Given the description of an element on the screen output the (x, y) to click on. 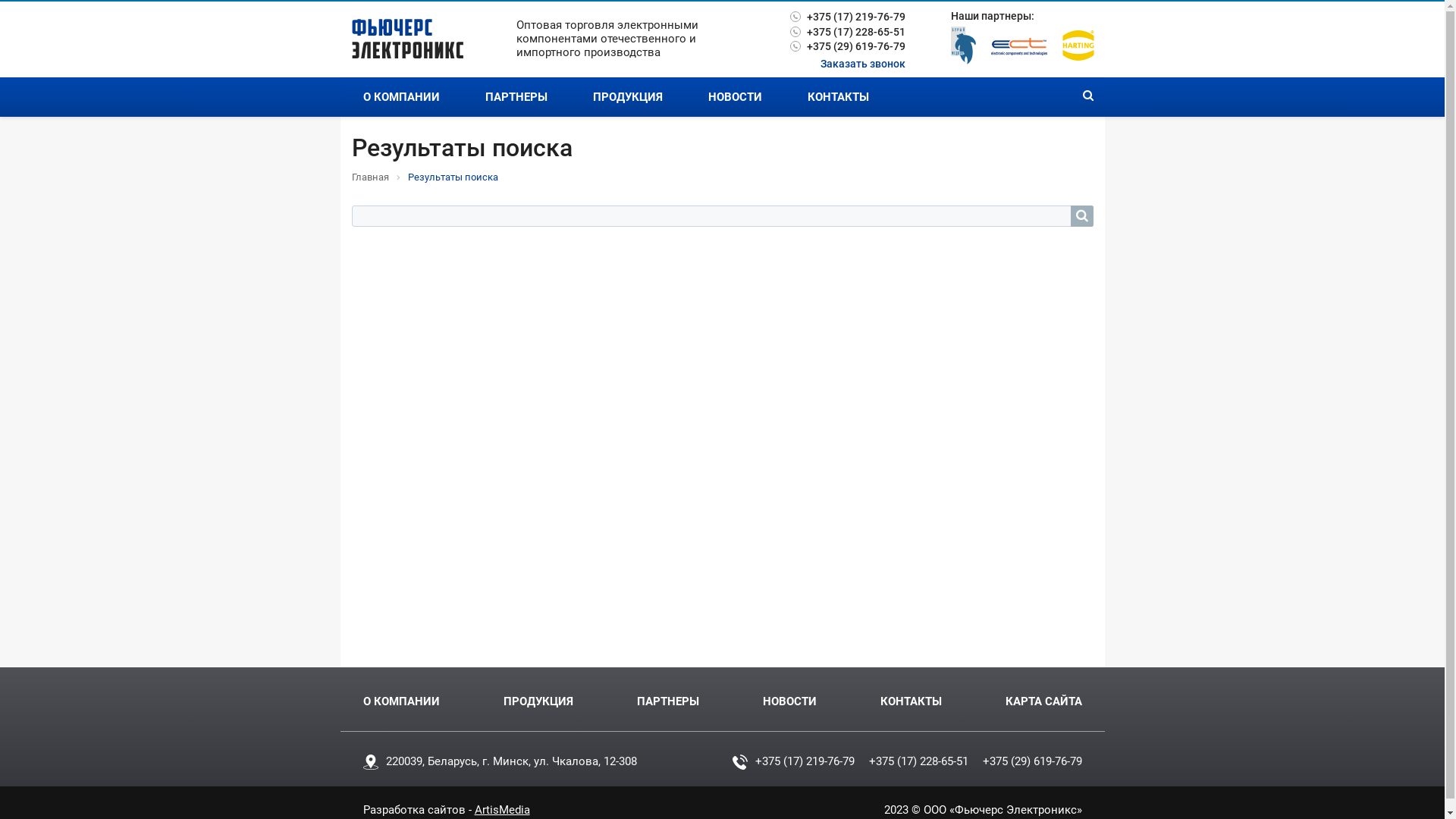
ArtisMedia Element type: text (502, 809)
+375 (17) 219-76-79 Element type: text (847, 17)
+375 (17) 228-65-51 Element type: text (847, 32)
+375 (17) 228-65-51 Element type: text (918, 761)
+375 (29) 619-76-79 Element type: text (1032, 761)
+375 (29) 619-76-79 Element type: text (847, 46)
+375 (17) 219-76-79 Element type: text (804, 761)
